Given the description of an element on the screen output the (x, y) to click on. 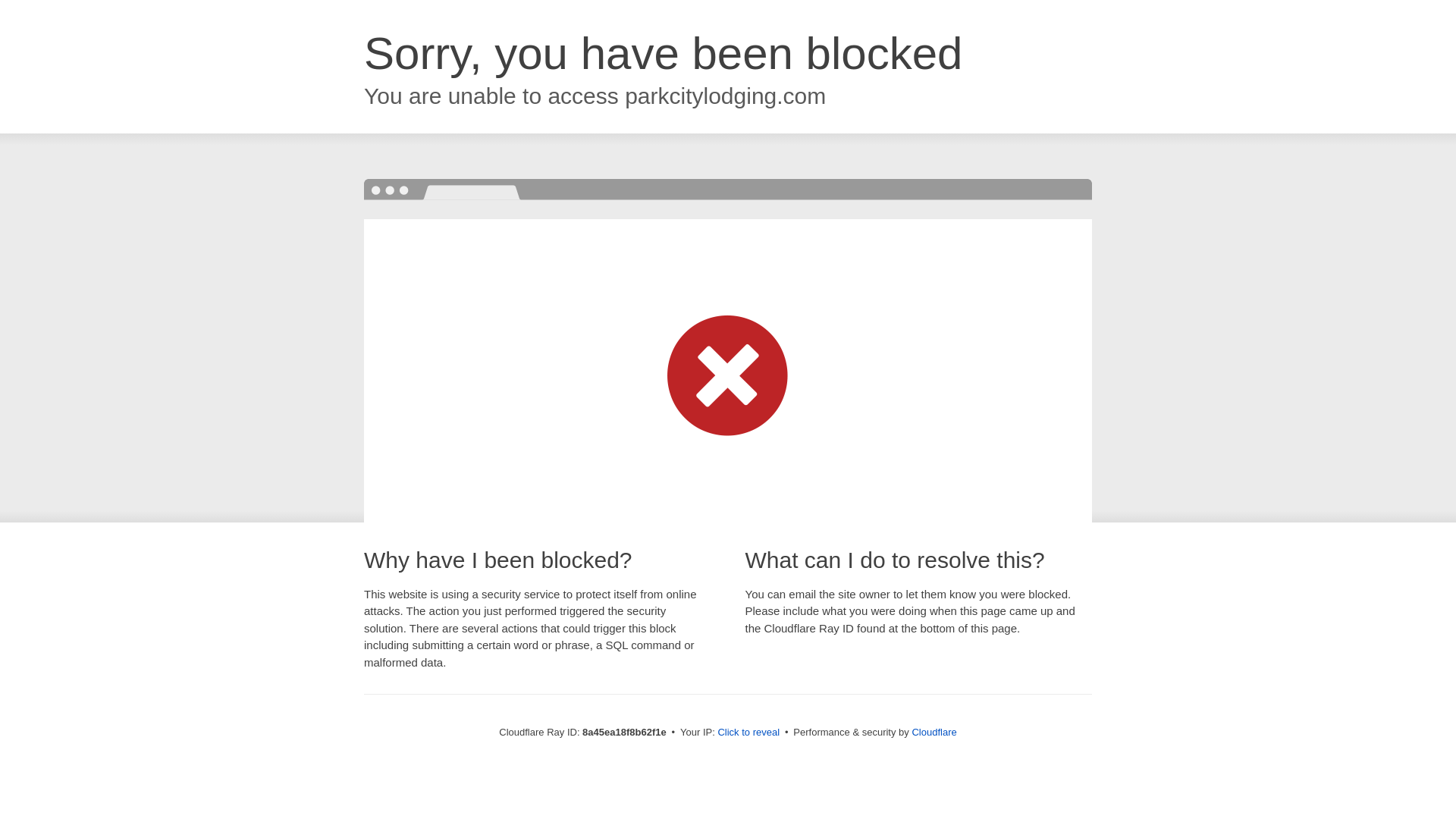
Click to reveal (747, 732)
Cloudflare (933, 731)
